Given the description of an element on the screen output the (x, y) to click on. 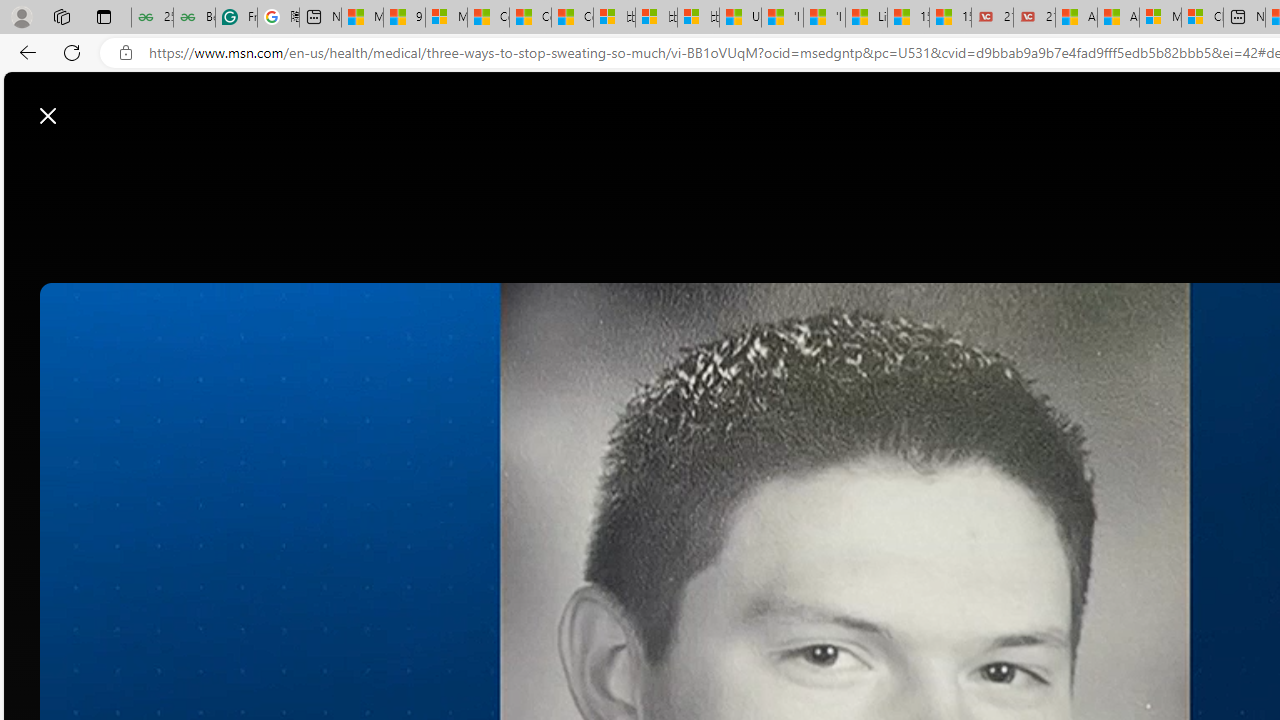
Open navigation menu (320, 162)
Personal Profile (21, 16)
Tab actions menu (104, 16)
21 Movies That Outdid the Books They Were Based On (1033, 17)
Watch (541, 162)
Workspaces (61, 16)
Skip to content (86, 105)
Lifestyle - MSN (866, 17)
Microsoft Services Agreement (1160, 17)
Watch (548, 162)
USA TODAY - MSN (740, 17)
Back (24, 52)
